Given the description of an element on the screen output the (x, y) to click on. 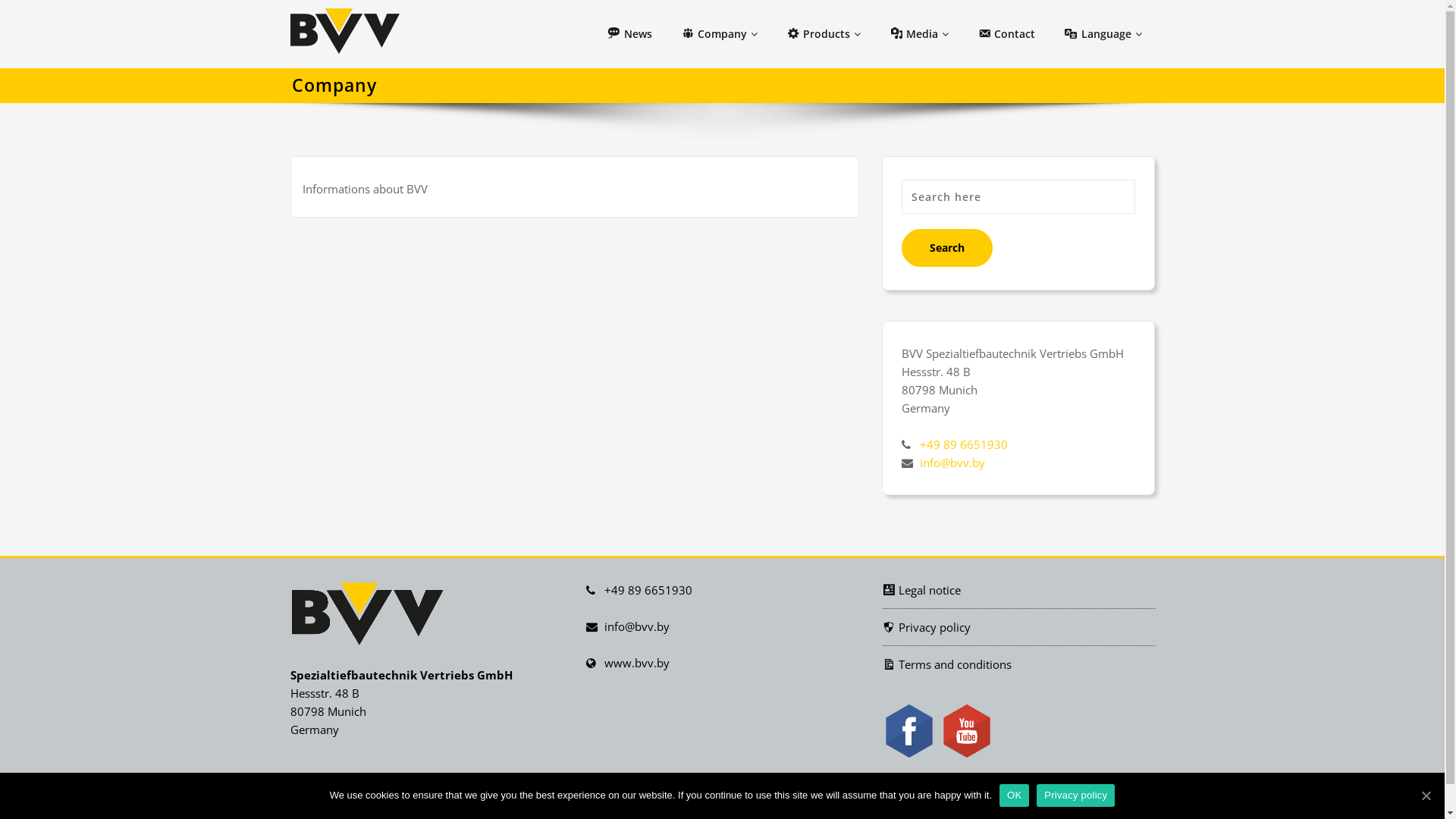
Contact Element type: text (1004, 34)
Company Element type: text (717, 34)
Privacy policy Element type: text (1075, 795)
Terms and conditions Element type: text (946, 663)
www.bvv.by Element type: text (635, 662)
Language Element type: text (1101, 34)
Legal notice Element type: text (920, 589)
Privacy policy Element type: text (925, 626)
+49 89 6651930 Element type: text (647, 589)
+49 89 6651930 Element type: text (963, 443)
info@bvv.by Element type: text (951, 462)
OK Element type: text (1014, 795)
Products Element type: text (821, 34)
Media Element type: text (917, 34)
info@bvv.by Element type: text (635, 625)
News Element type: text (627, 34)
Search Element type: text (945, 247)
